Given the description of an element on the screen output the (x, y) to click on. 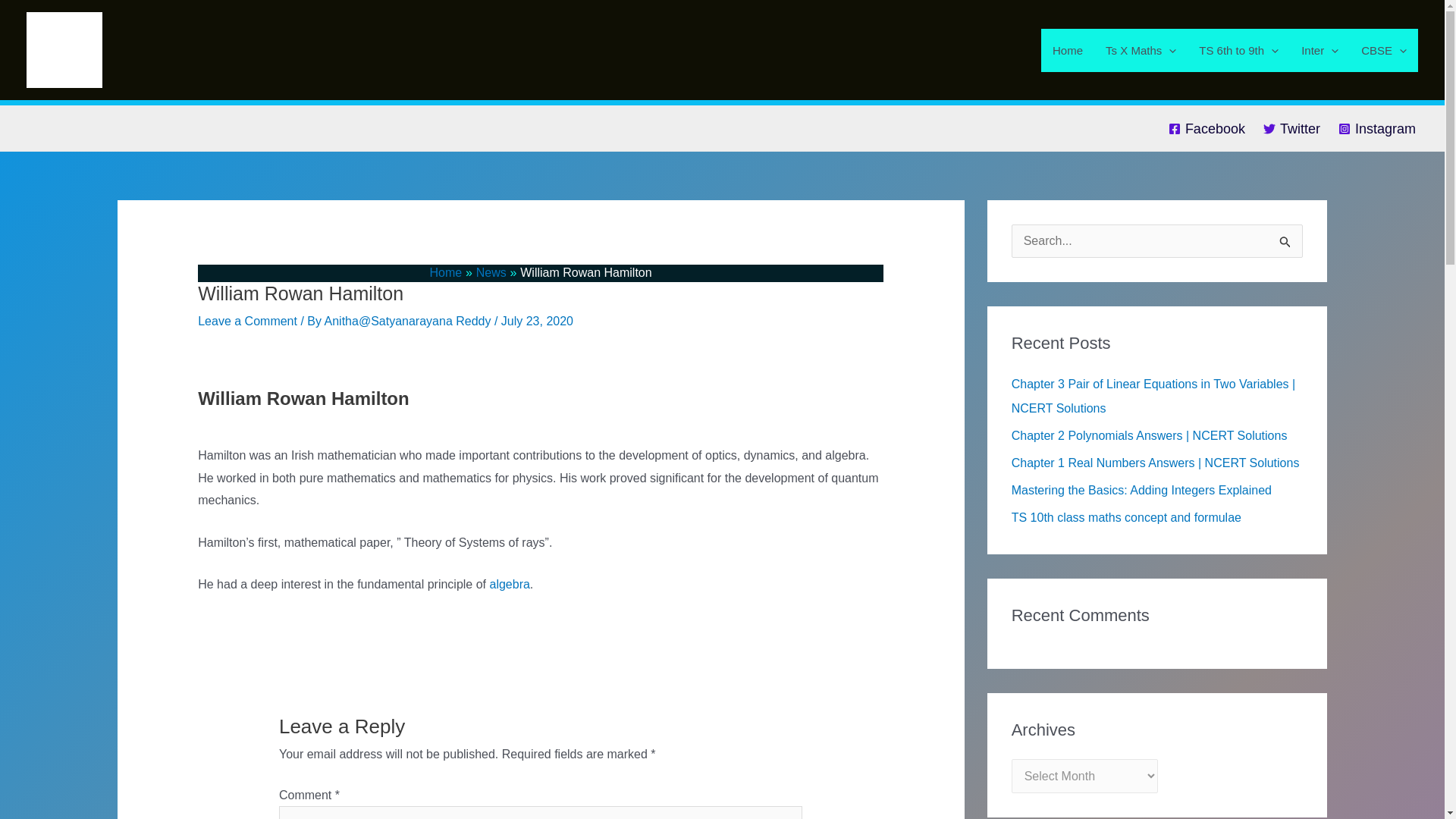
Facebook (1206, 128)
TS 6th to 9th (1239, 50)
Ts X Maths (1141, 50)
Inter (1319, 50)
CBSE (1383, 50)
Twitter (1291, 128)
Home (1067, 50)
Instagram (1377, 128)
Search (1285, 240)
Search (1285, 240)
